Given the description of an element on the screen output the (x, y) to click on. 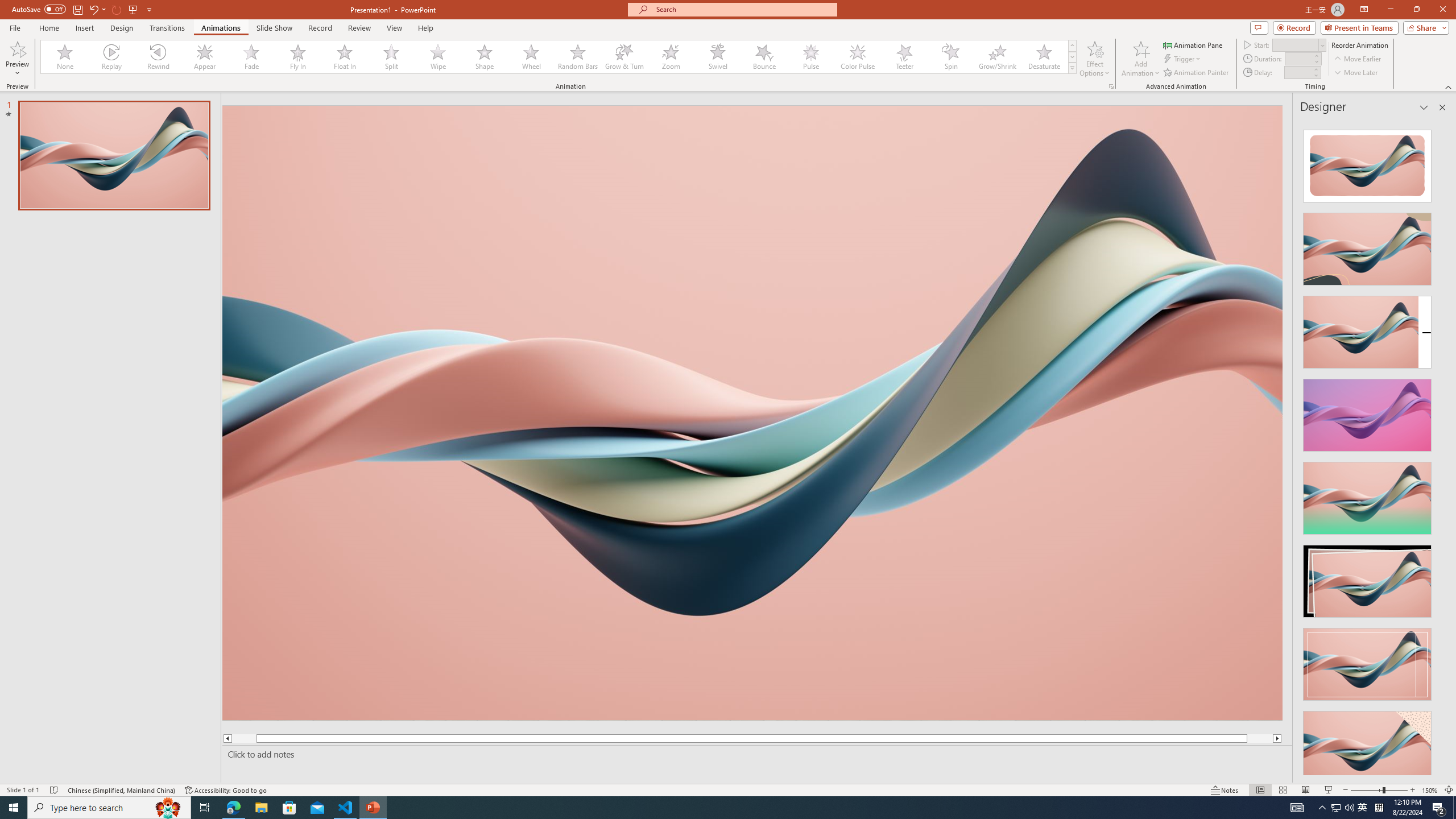
Rewind (158, 56)
Spin (950, 56)
Teeter (903, 56)
Pulse (810, 56)
Replay (111, 56)
